Given the description of an element on the screen output the (x, y) to click on. 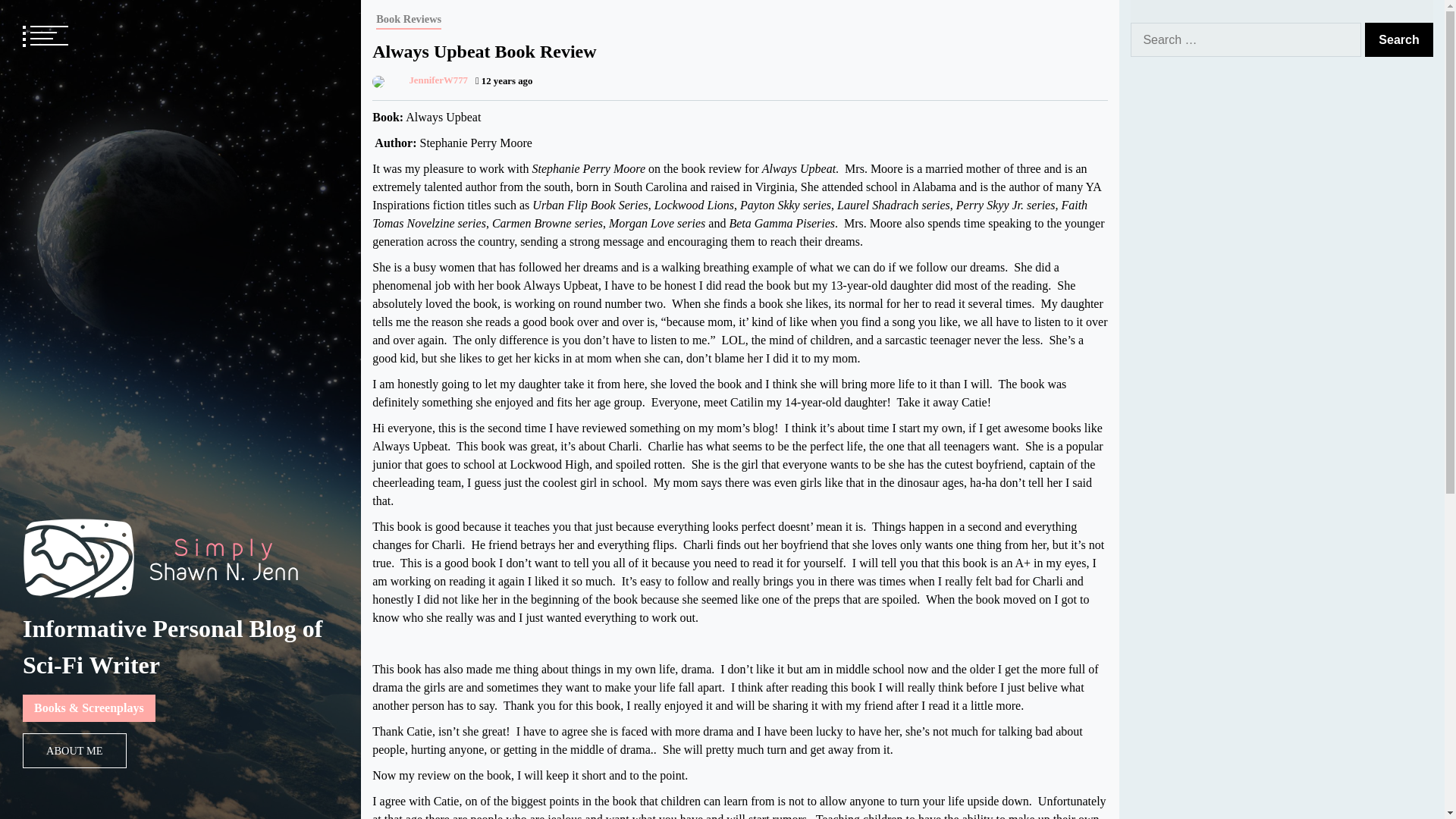
Informative Personal Blog of Sci-Fi Writer (173, 646)
JenniferW777 (419, 80)
ABOUT ME (74, 750)
Search (1398, 39)
Book Reviews (408, 19)
Search (1398, 39)
Search (1398, 39)
